Given the description of an element on the screen output the (x, y) to click on. 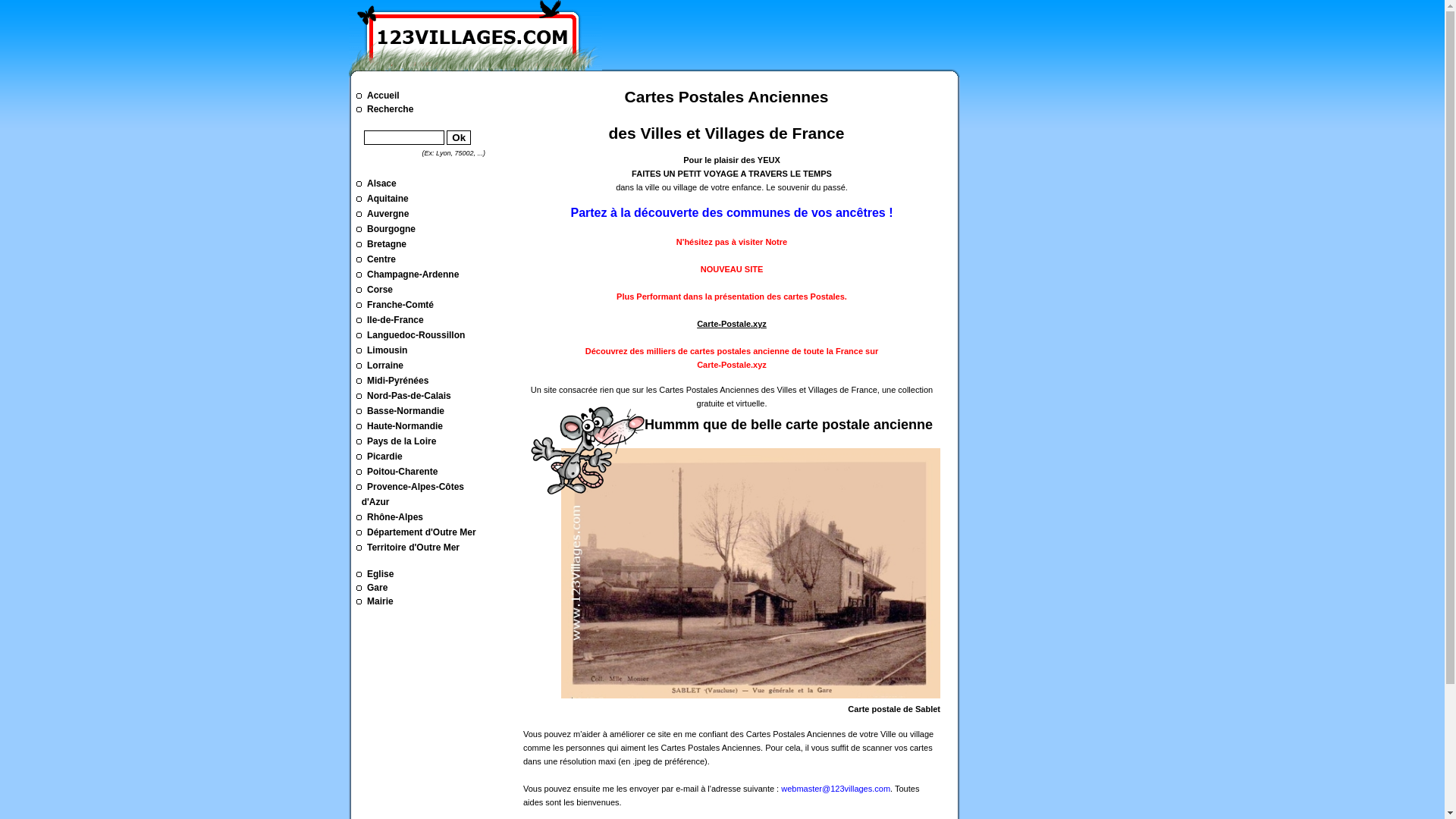
Centre Element type: text (428, 258)
Carte postale de Sablet Element type: text (750, 701)
Bretagne Element type: text (428, 243)
Advertisement Element type: hover (798, 33)
Carte postale de Sablet Element type: hover (750, 573)
Bourgogne Element type: text (428, 228)
Ok Element type: text (458, 137)
Gare Element type: text (428, 586)
Champagne-Ardenne Element type: text (428, 274)
Ile-de-France Element type: text (428, 319)
Nord-Pas-de-Calais Element type: text (428, 395)
Corse Element type: text (428, 289)
Alsace Element type: text (428, 183)
Poitou-Charente Element type: text (428, 471)
Accueil Element type: hover (475, 35)
Auvergne Element type: text (428, 213)
Pays de la Loire Element type: text (428, 440)
Territoire d'Outre Mer Element type: text (428, 547)
Lorraine Element type: text (428, 365)
Eglise Element type: text (428, 573)
Advertisement Element type: hover (1027, 296)
Carte-Postale.xyz Element type: text (731, 323)
Haute-Normandie Element type: text (428, 425)
Accueil Element type: text (428, 94)
Picardie Element type: text (428, 456)
Recherche Element type: text (428, 108)
Limousin Element type: text (428, 349)
Basse-Normandie Element type: text (428, 410)
Aquitaine Element type: text (428, 198)
Mairie Element type: text (428, 600)
Languedoc-Roussillon Element type: text (428, 334)
